Given the description of an element on the screen output the (x, y) to click on. 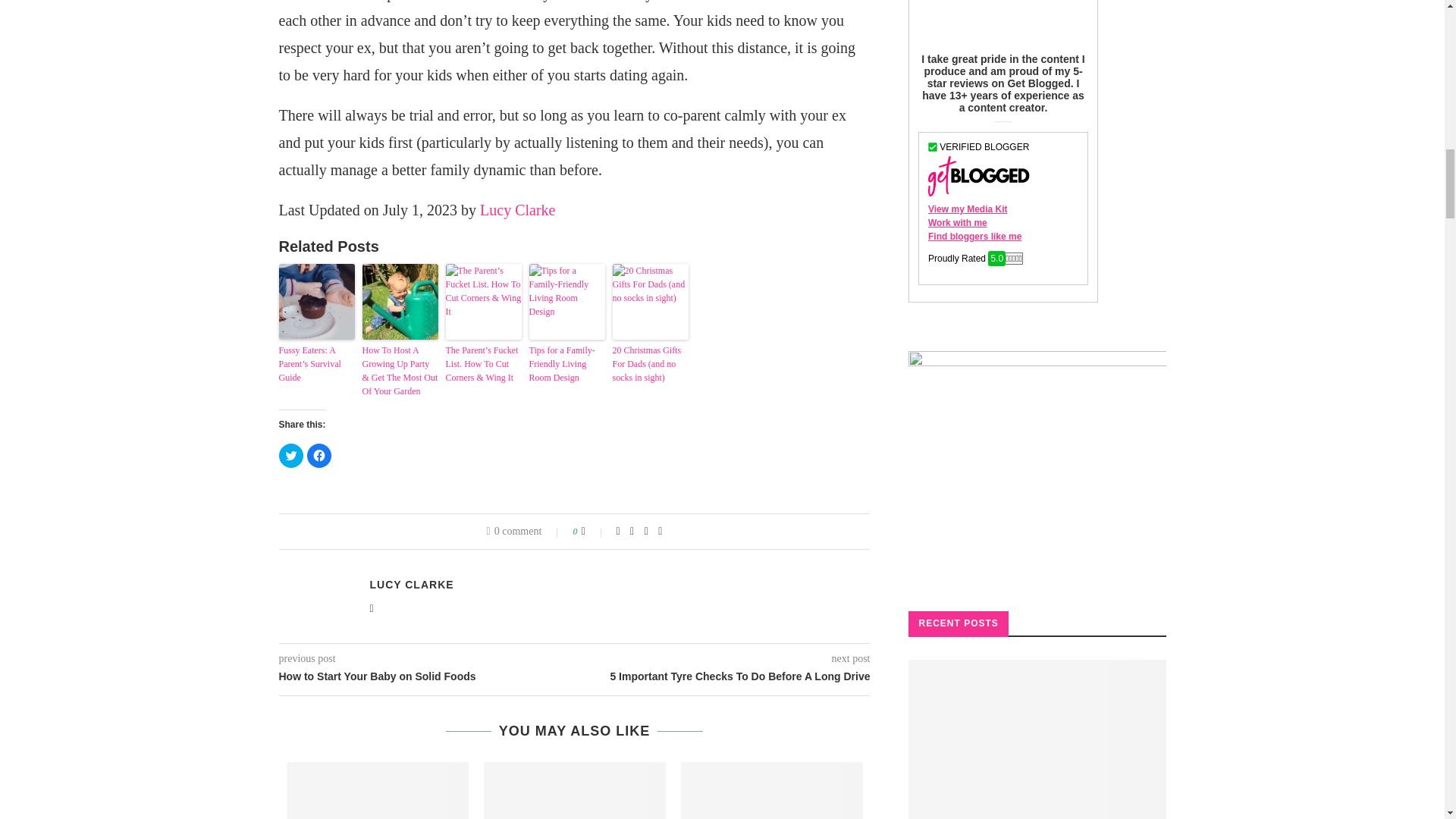
Click to share on Facebook (317, 455)
Click to share on Twitter (290, 455)
Like (592, 531)
Posts by Lucy Clarke (411, 584)
